Given the description of an element on the screen output the (x, y) to click on. 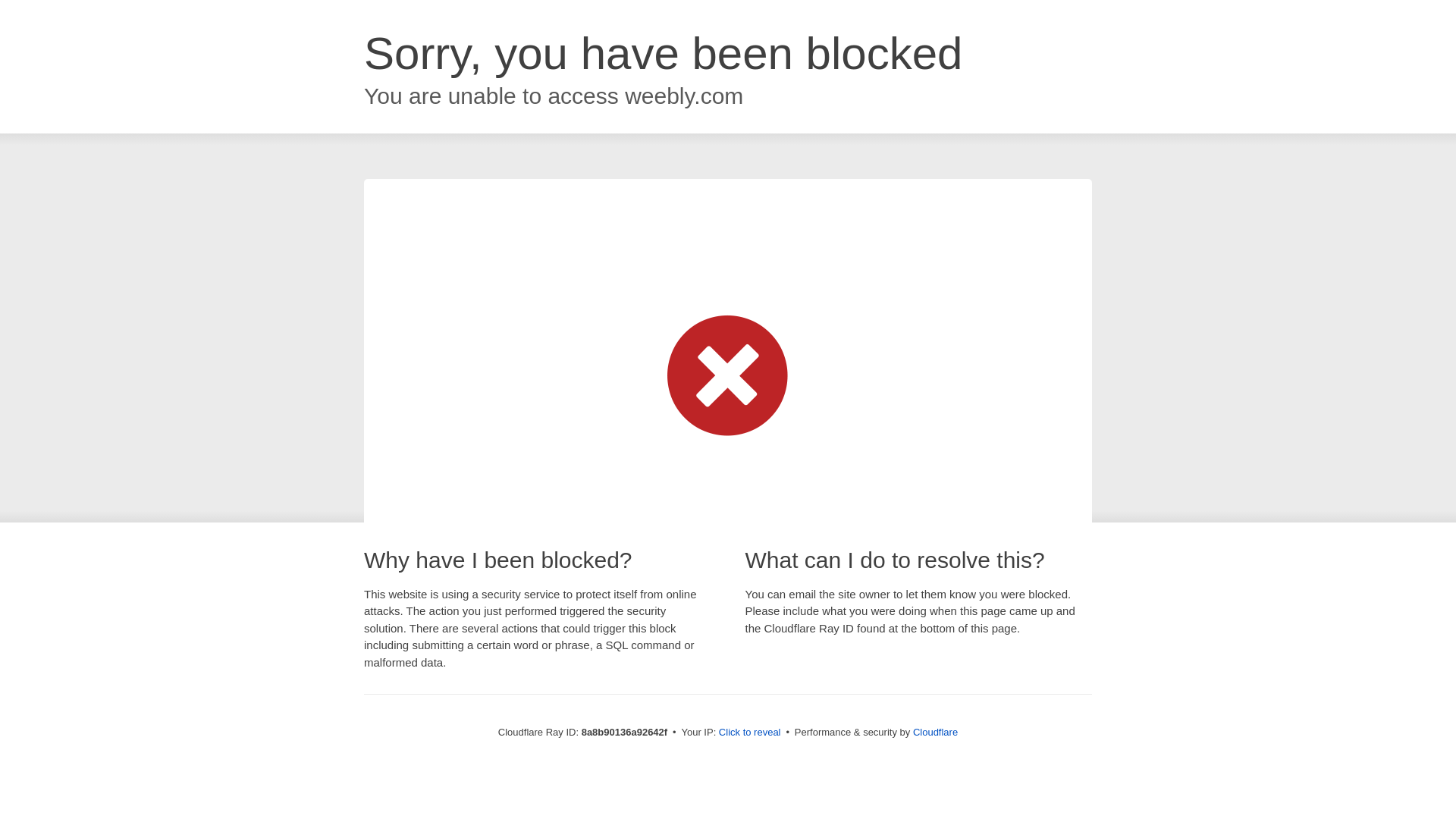
Click to reveal (749, 732)
Cloudflare (935, 731)
